Given the description of an element on the screen output the (x, y) to click on. 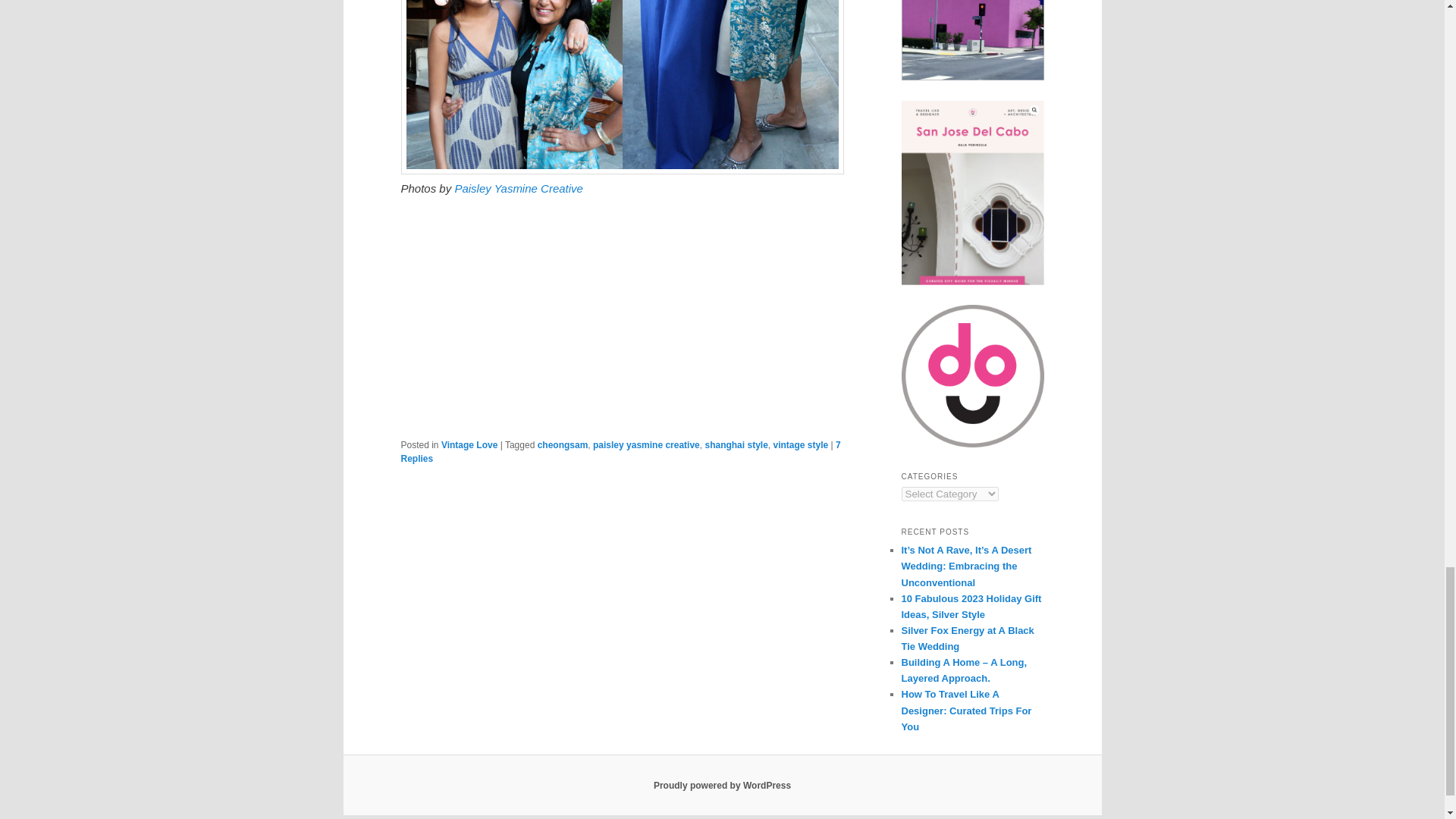
Vintage Love (469, 444)
shanghai style (735, 444)
7 Replies (620, 451)
paisley yasmine creative (646, 444)
vintage style (800, 444)
Vintage style Sept 21 11 (621, 87)
cheongsam (562, 444)
Paisley Yasmine Creative (518, 187)
Semantic Personal Publishing Platform (721, 785)
